Given the description of an element on the screen output the (x, y) to click on. 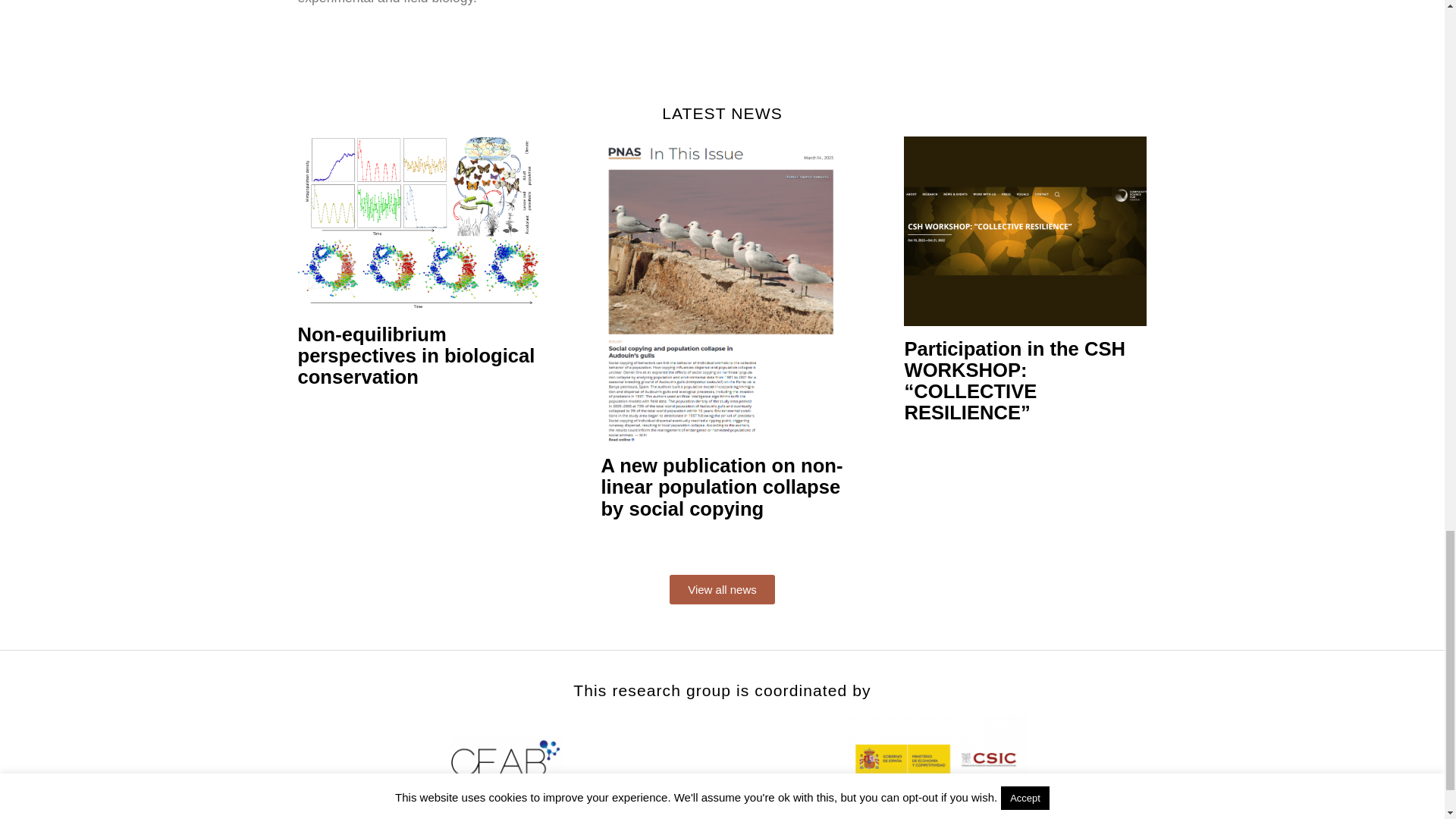
Non-equilibrium perspectives in biological conservation (418, 355)
View all news (721, 589)
